Given the description of an element on the screen output the (x, y) to click on. 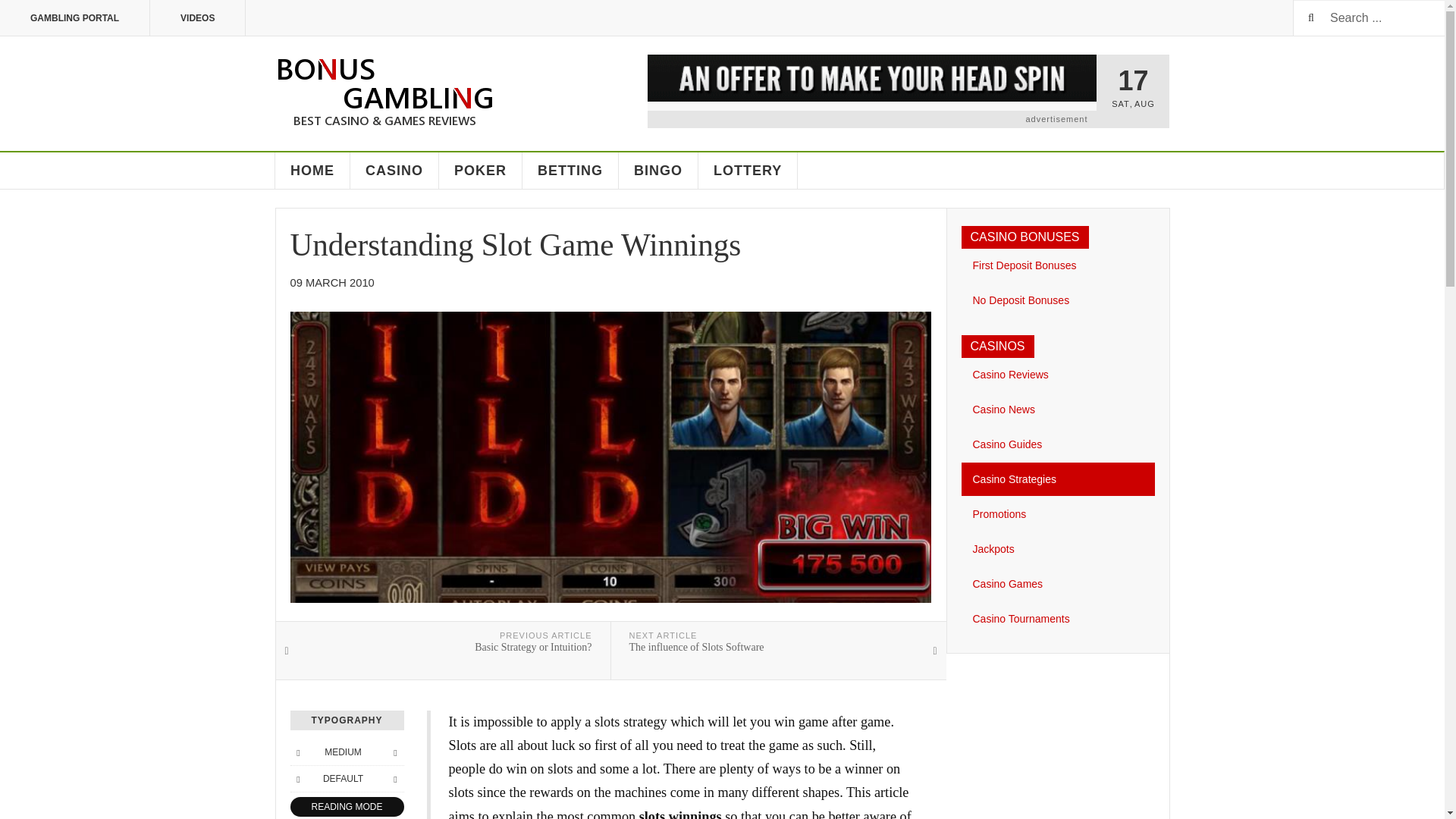
HOME (312, 170)
First Deposit Bonuses (1057, 264)
CASINO (394, 170)
POKER (443, 650)
GAMBLING PORTAL (480, 170)
Reading Mode (74, 18)
Bigger Font (346, 806)
No Deposit Bonuses (395, 751)
Bonus Gambling (1057, 299)
